Given the description of an element on the screen output the (x, y) to click on. 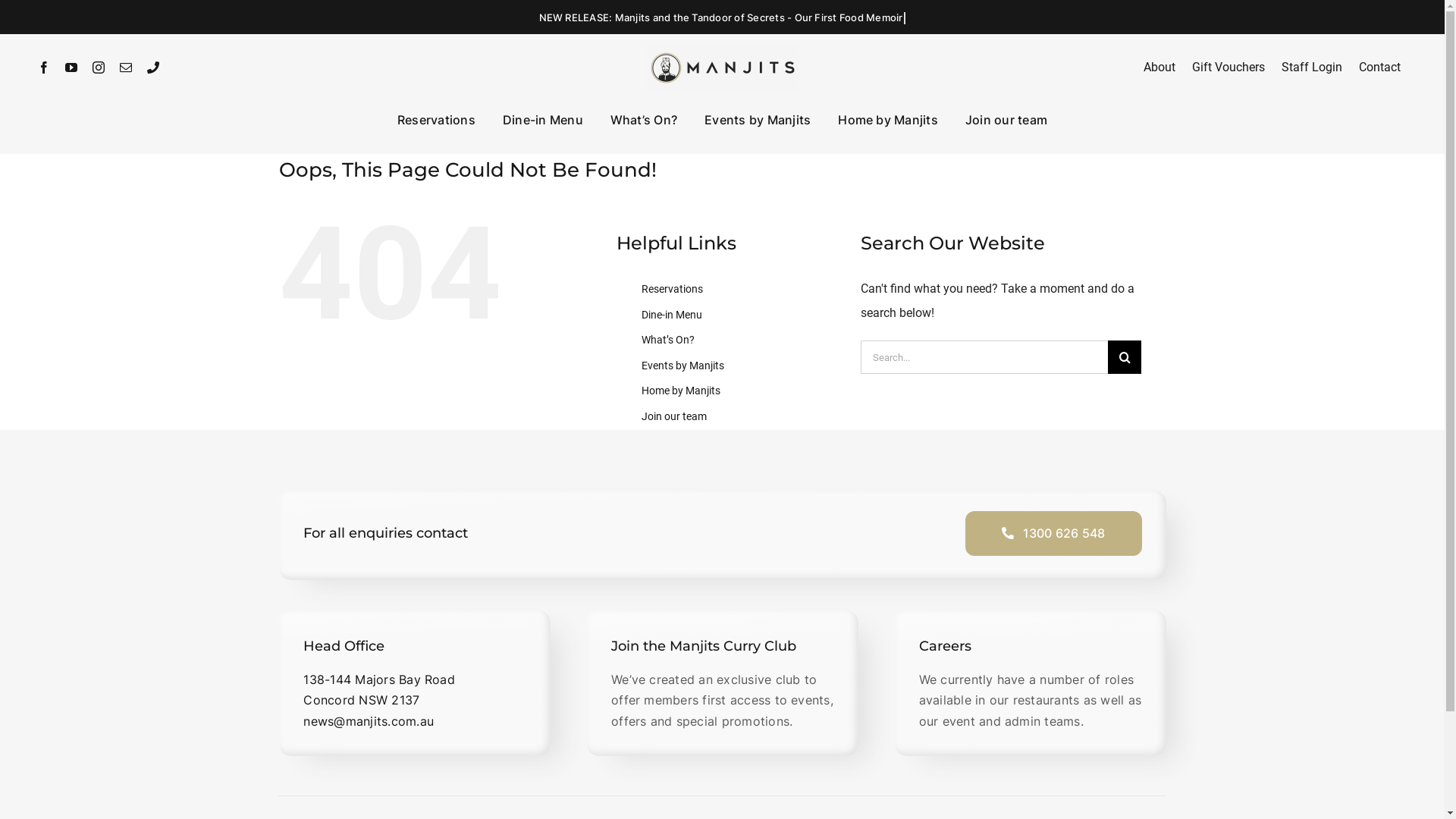
news@manjits.com.au Element type: text (368, 720)
Dine-in Menu Element type: text (542, 120)
Home by Manjits Element type: text (887, 120)
Staff Login Element type: text (1311, 67)
Join our team Element type: text (673, 416)
About Element type: text (1159, 67)
Join our team Element type: text (1006, 120)
Reservations Element type: text (671, 288)
Reservations Element type: text (436, 120)
Home by Manjits Element type: text (680, 390)
138-144 Majors Bay Road Element type: text (379, 679)
Contact Element type: text (1379, 67)
Dine-in Menu Element type: text (671, 314)
Events by Manjits Element type: text (757, 120)
Gift Vouchers Element type: text (1228, 67)
1300 626 548 Element type: text (1053, 533)
Concord NSW 2137 Element type: text (361, 699)
Events by Manjits Element type: text (682, 365)
